Given the description of an element on the screen output the (x, y) to click on. 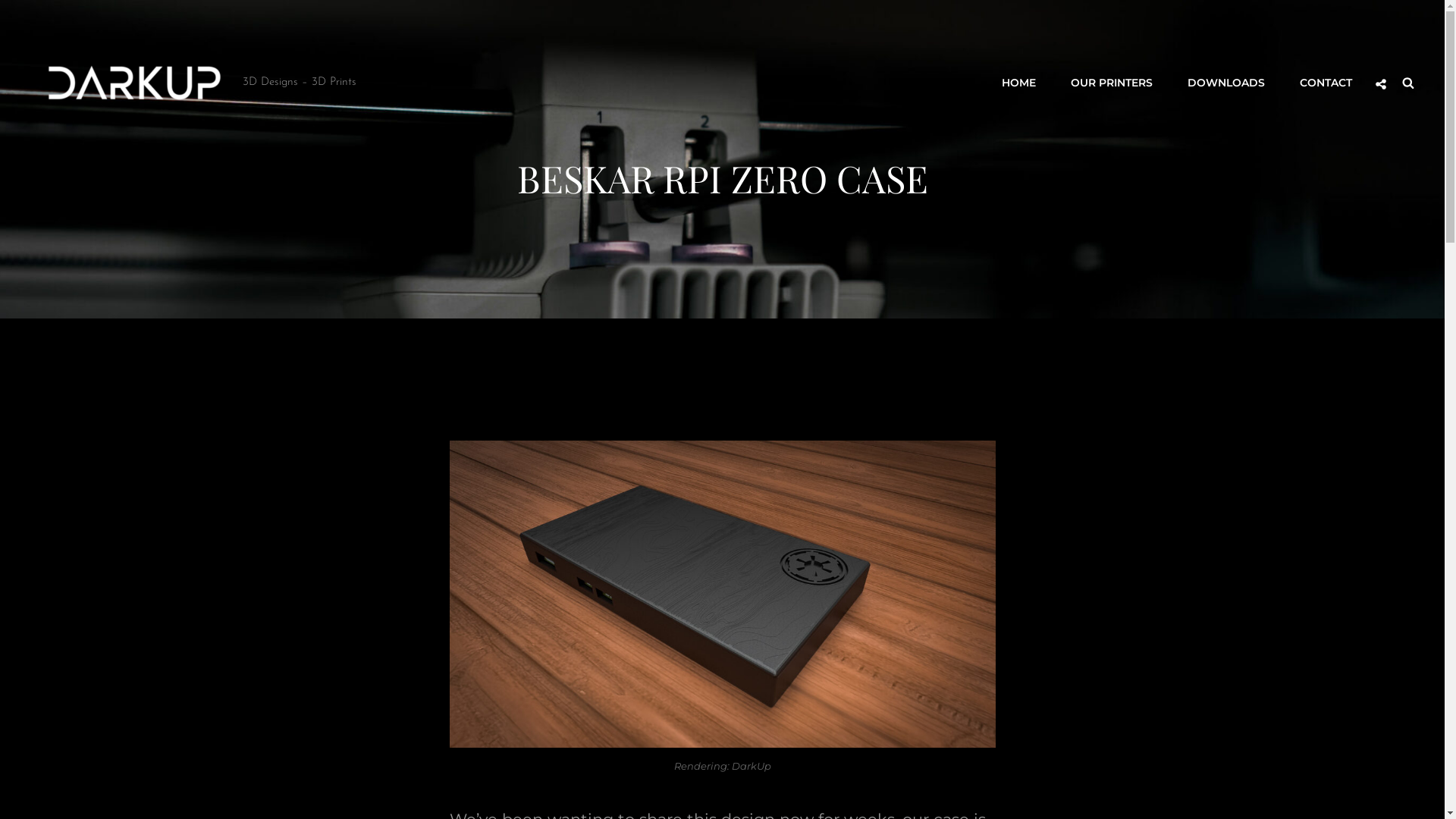
Search Element type: text (1407, 82)
DOWNLOADS Element type: text (1226, 82)
CONTACT Element type: text (1325, 82)
HOME Element type: text (1018, 82)
OUR PRINTERS Element type: text (1111, 82)
Social Share Element type: text (1380, 83)
